Given the description of an element on the screen output the (x, y) to click on. 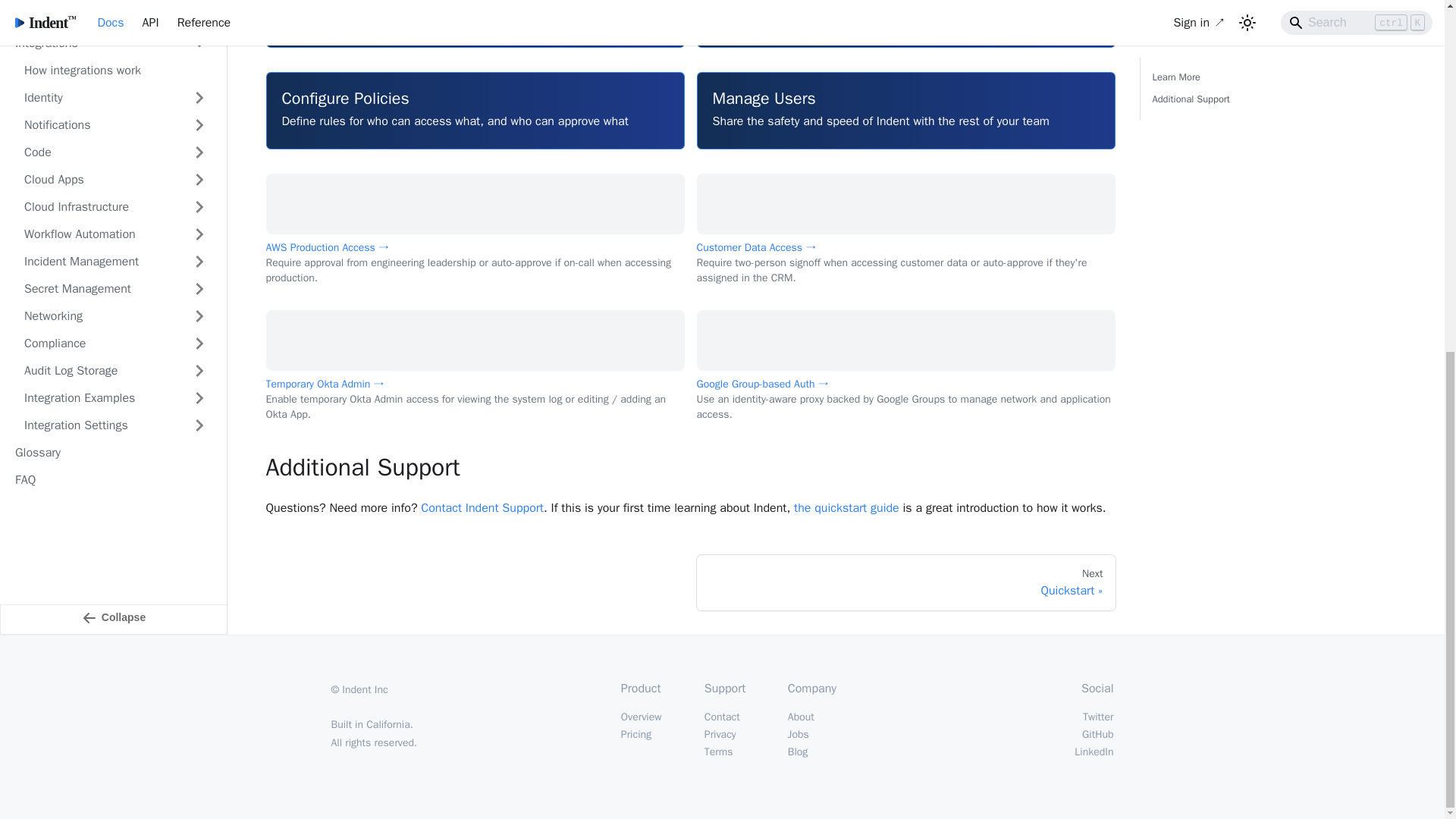
Collapse sidebar (113, 191)
Glossary (110, 24)
FAQ (110, 52)
Integration Settings (114, 4)
Collapse (113, 191)
